Given the description of an element on the screen output the (x, y) to click on. 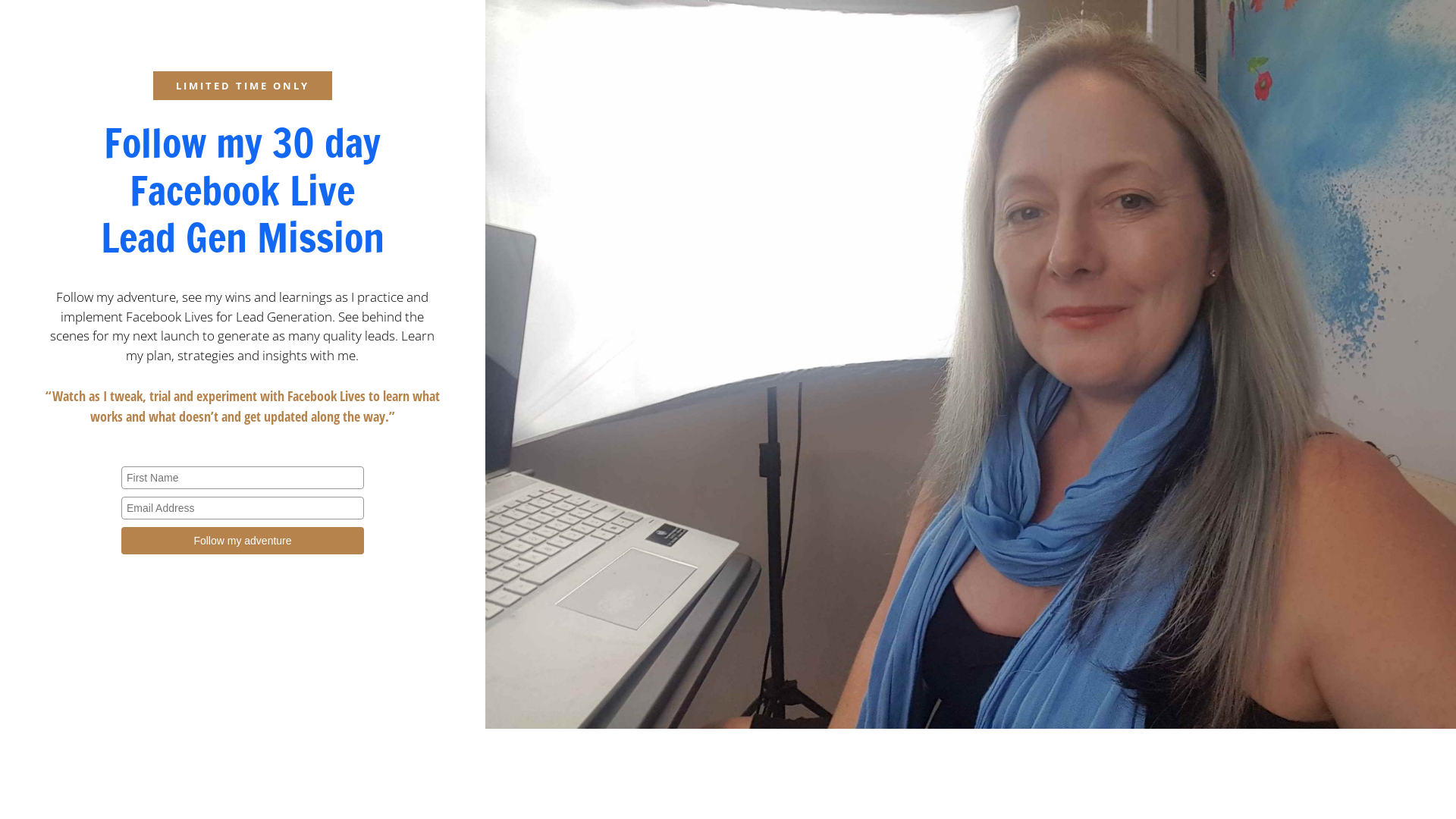
Follow my adventure Element type: text (242, 540)
